Given the description of an element on the screen output the (x, y) to click on. 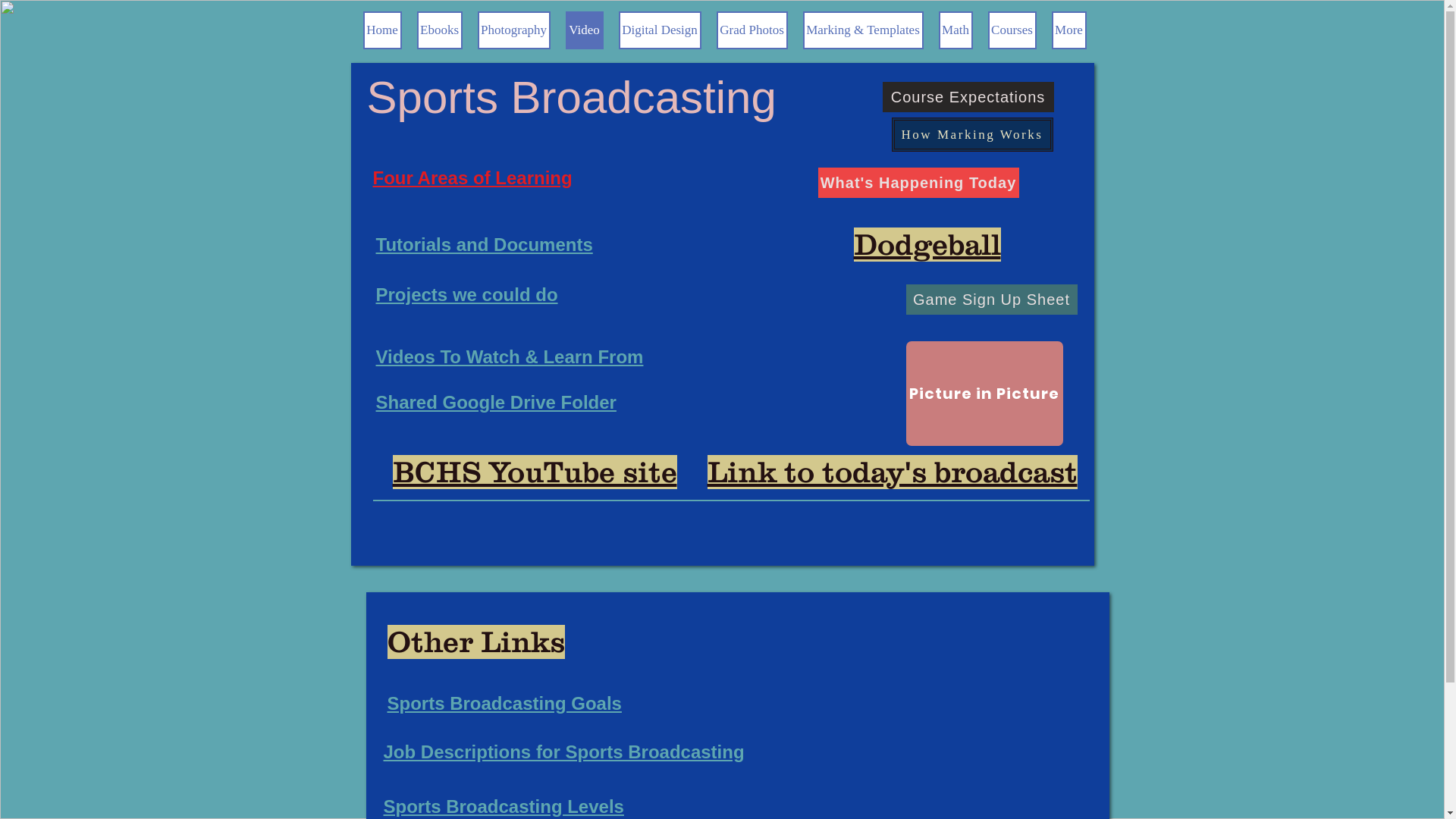
Projects we could do Element type: text (467, 294)
What's Happening Today Element type: text (917, 182)
Link to today's broadcast Element type: text (891, 471)
Home Element type: text (381, 30)
Marking & Templates Element type: text (862, 30)
Math Element type: text (955, 30)
Video Element type: text (584, 30)
How Marking Works Element type: text (972, 134)
Videos To Watch & Learn From Element type: text (509, 357)
Course Expectations Element type: text (968, 96)
Sports Broadcasting Goals Element type: text (503, 703)
Picture in Picture Element type: text (983, 393)
Tutorials and Documents Element type: text (484, 244)
Ebooks Element type: text (439, 30)
Digital Design Element type: text (659, 30)
Job Descriptions for Sports Broadcasting Element type: text (563, 752)
Game Sign Up Sheet Element type: text (990, 299)
Courses Element type: text (1011, 30)
Photography Element type: text (513, 30)
Dodgeball Element type: text (927, 243)
Grad Photos Element type: text (751, 30)
Sports Broadcasting Levels Element type: text (503, 806)
BCHS YouTube site Element type: text (534, 471)
Shared Google Drive Folder Element type: text (496, 402)
Four Areas of Learning Element type: text (472, 178)
